Given the description of an element on the screen output the (x, y) to click on. 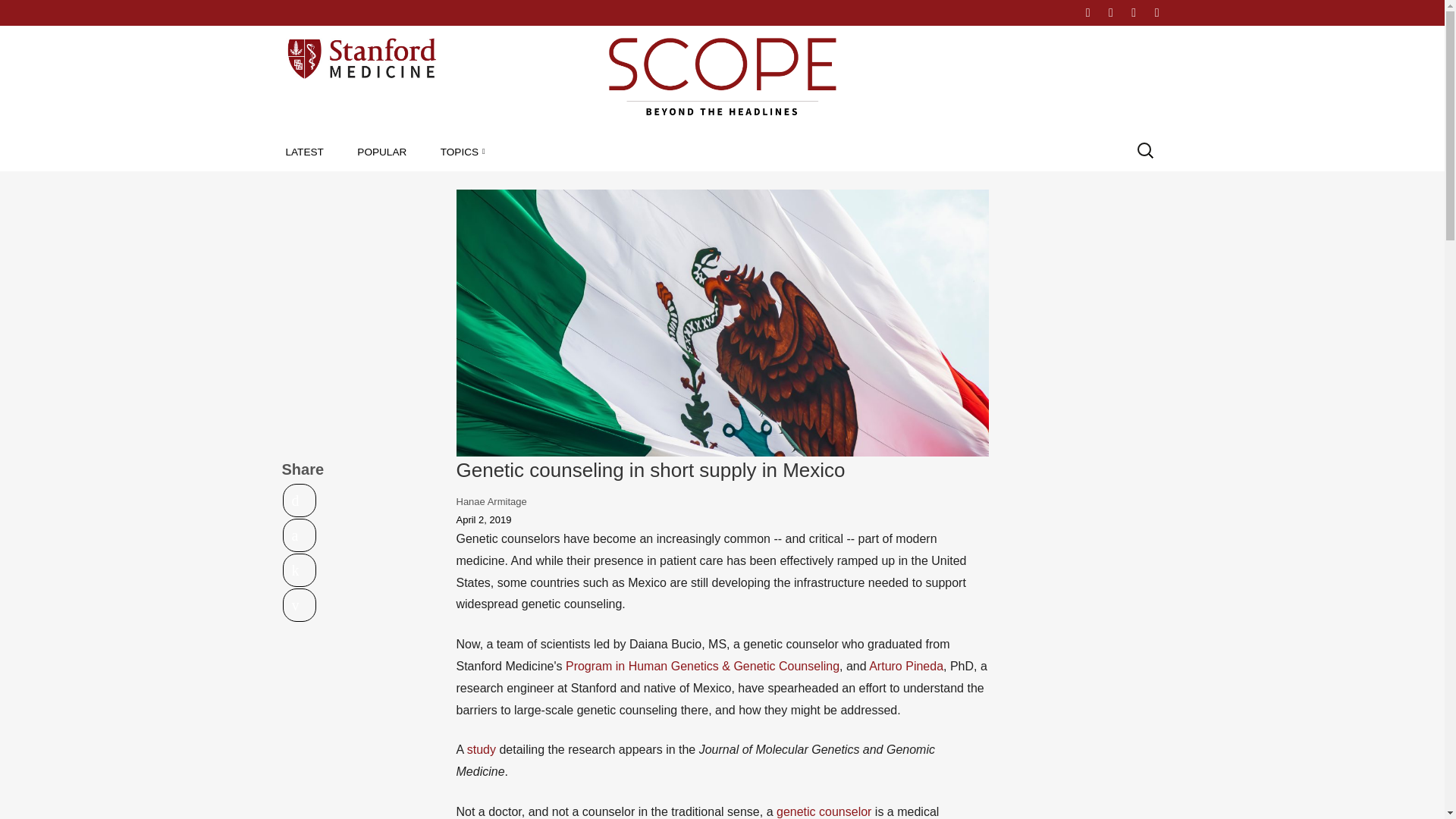
Opens in a new window (299, 570)
Arturo Pineda (906, 666)
MEDICAL RESEARCH (527, 186)
ABOUT (1043, 12)
Share on LinkedIn (299, 570)
Search (26, 12)
Share on Facebook (299, 534)
TOPICS (462, 152)
Share on Twitter (299, 500)
LATEST (304, 152)
